Given the description of an element on the screen output the (x, y) to click on. 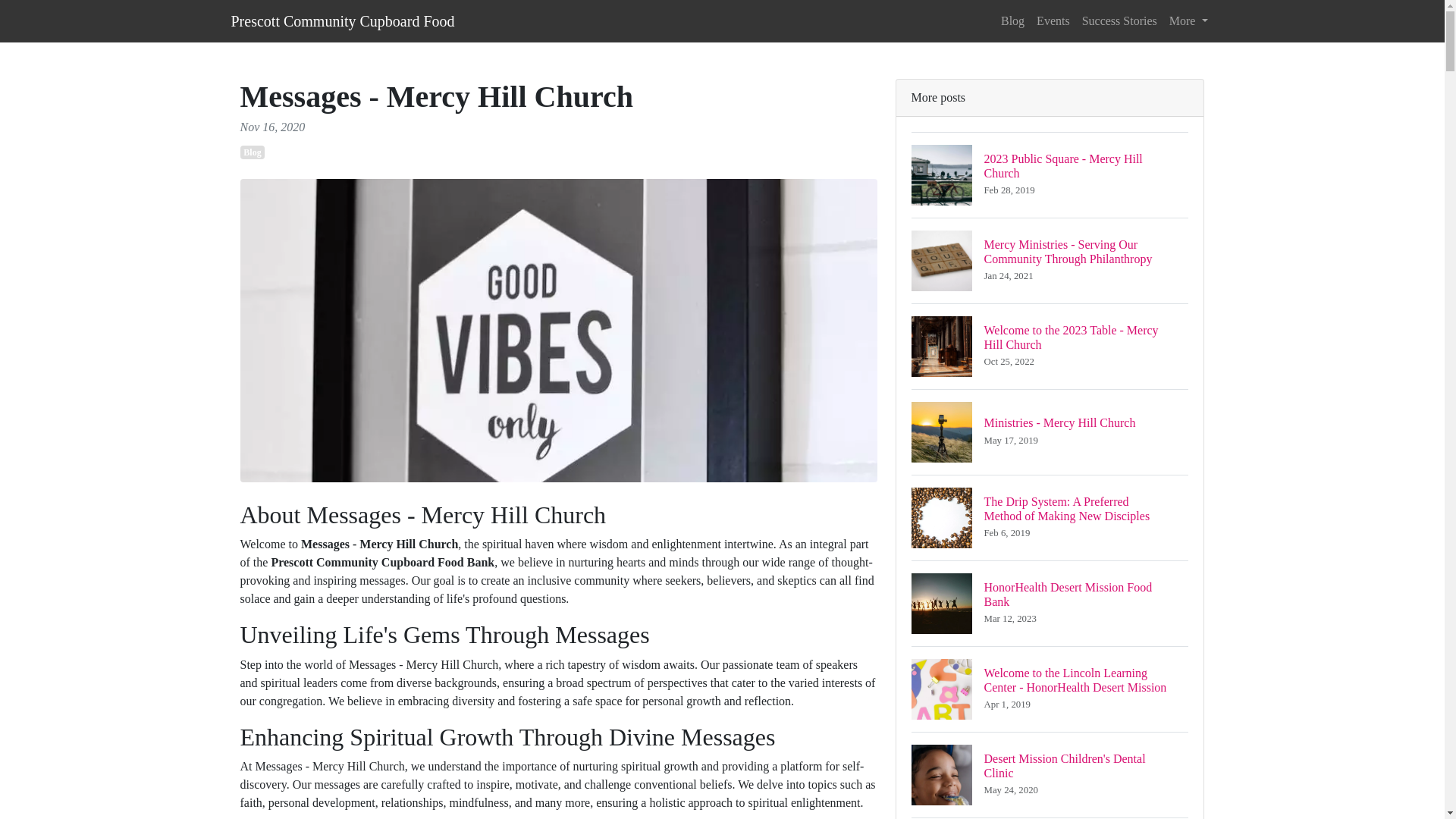
More (1188, 20)
Blog (1050, 432)
Prescott Community Cupboard Food (1012, 20)
Blog (342, 20)
Success Stories (1050, 774)
Events (252, 151)
